Given the description of an element on the screen output the (x, y) to click on. 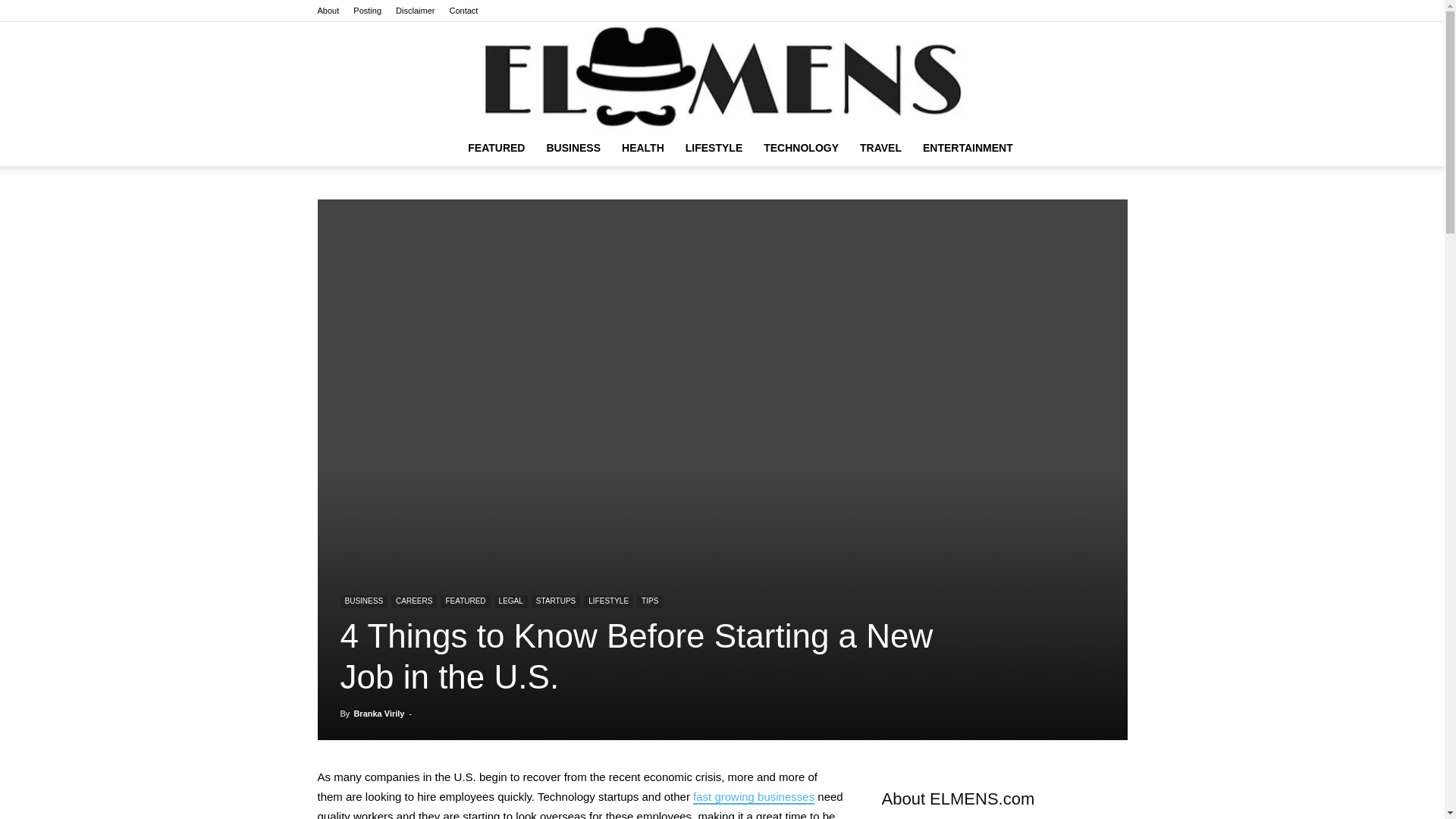
LIFESTYLE (713, 147)
elmenslogo (721, 75)
CATEGORIES (496, 147)
